Given the description of an element on the screen output the (x, y) to click on. 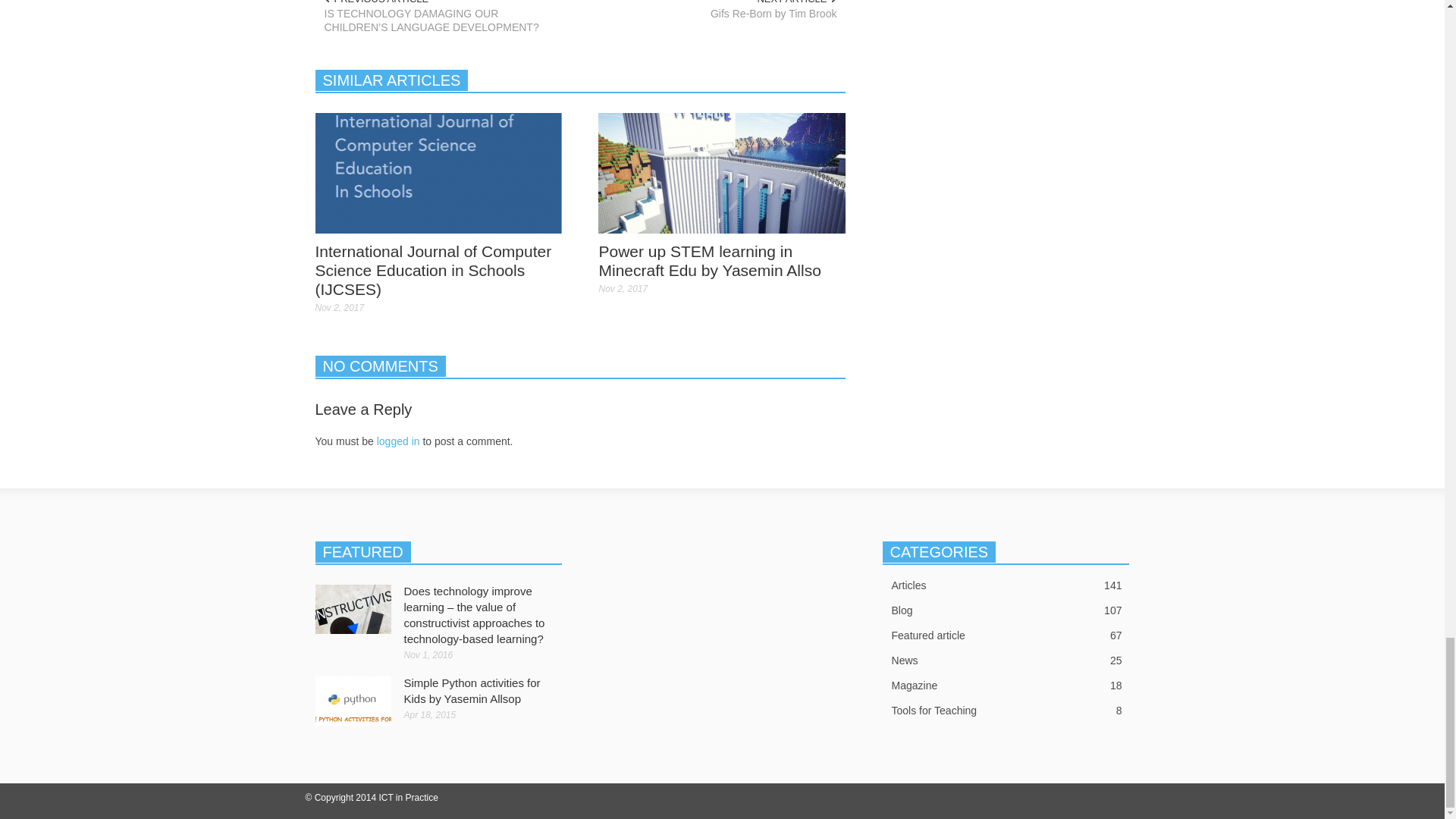
Power up STEM learning in Minecraft Edu  by Yasemin Allso (721, 172)
Gifs Re-Born by Tim Brook (716, 13)
Power up STEM learning in Minecraft Edu  by Yasemin Allso (721, 173)
Power up STEM learning in Minecraft Edu  by Yasemin Allso (709, 260)
